Given the description of an element on the screen output the (x, y) to click on. 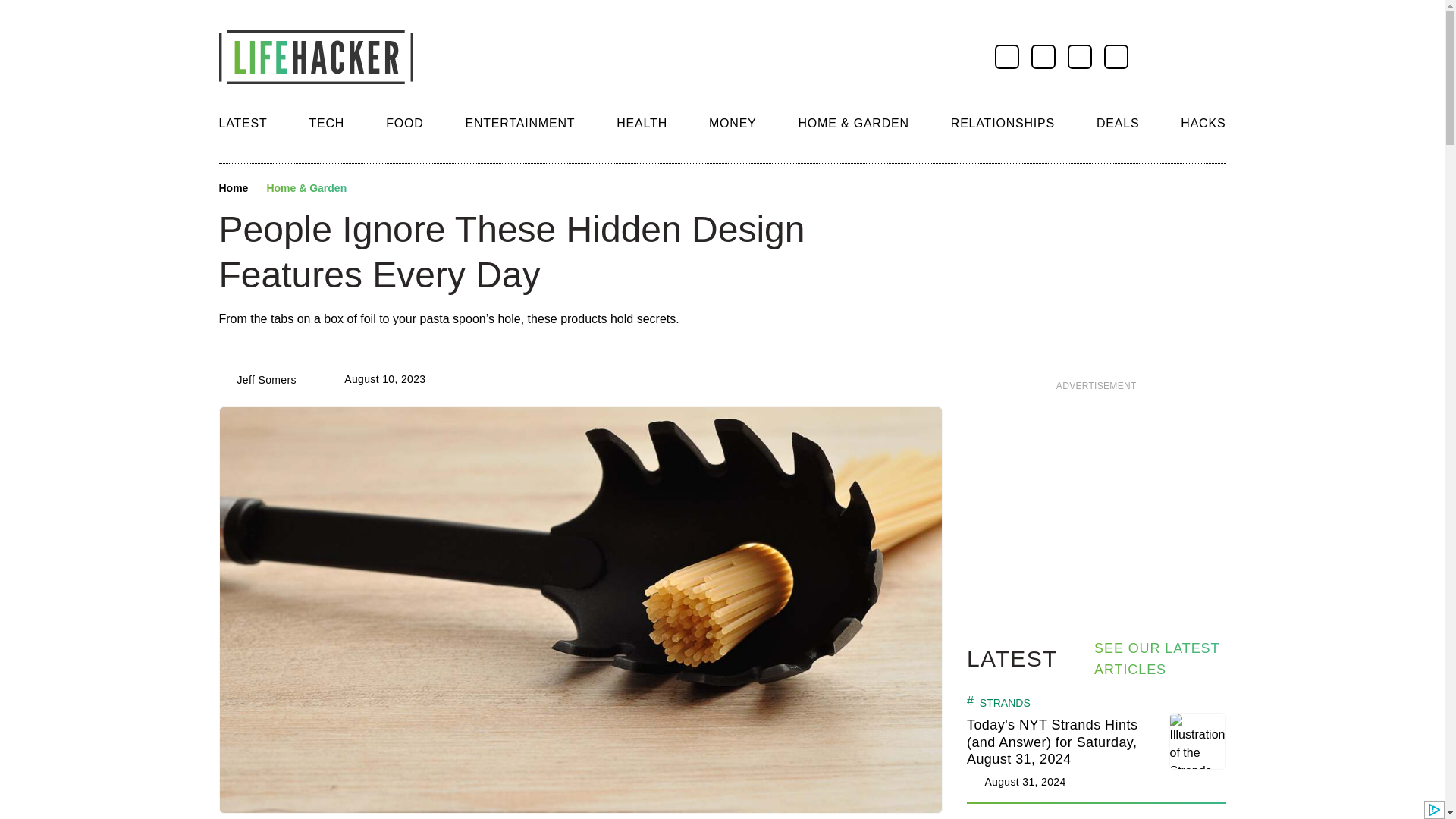
MONEY (733, 123)
HEALTH (640, 123)
RELATIONSHIPS (1002, 123)
HACKS (1202, 123)
ENTERTAINMENT (519, 123)
FOOD (404, 123)
Home (232, 188)
DEALS (1117, 123)
TECH (325, 123)
LATEST (242, 123)
